Given the description of an element on the screen output the (x, y) to click on. 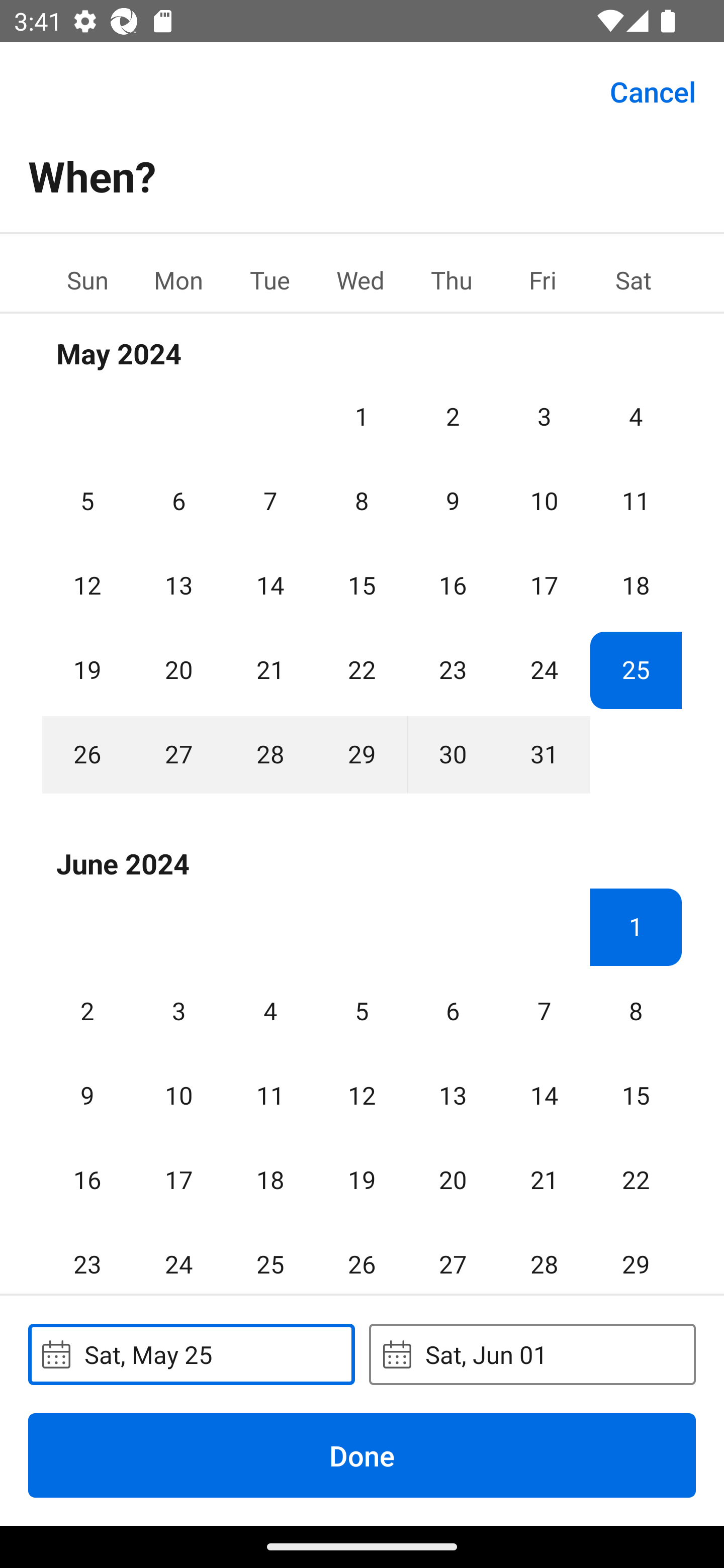
Cancel (652, 90)
Sat, May 25 (191, 1353)
Sat, Jun 01 (532, 1353)
Done (361, 1454)
